Given the description of an element on the screen output the (x, y) to click on. 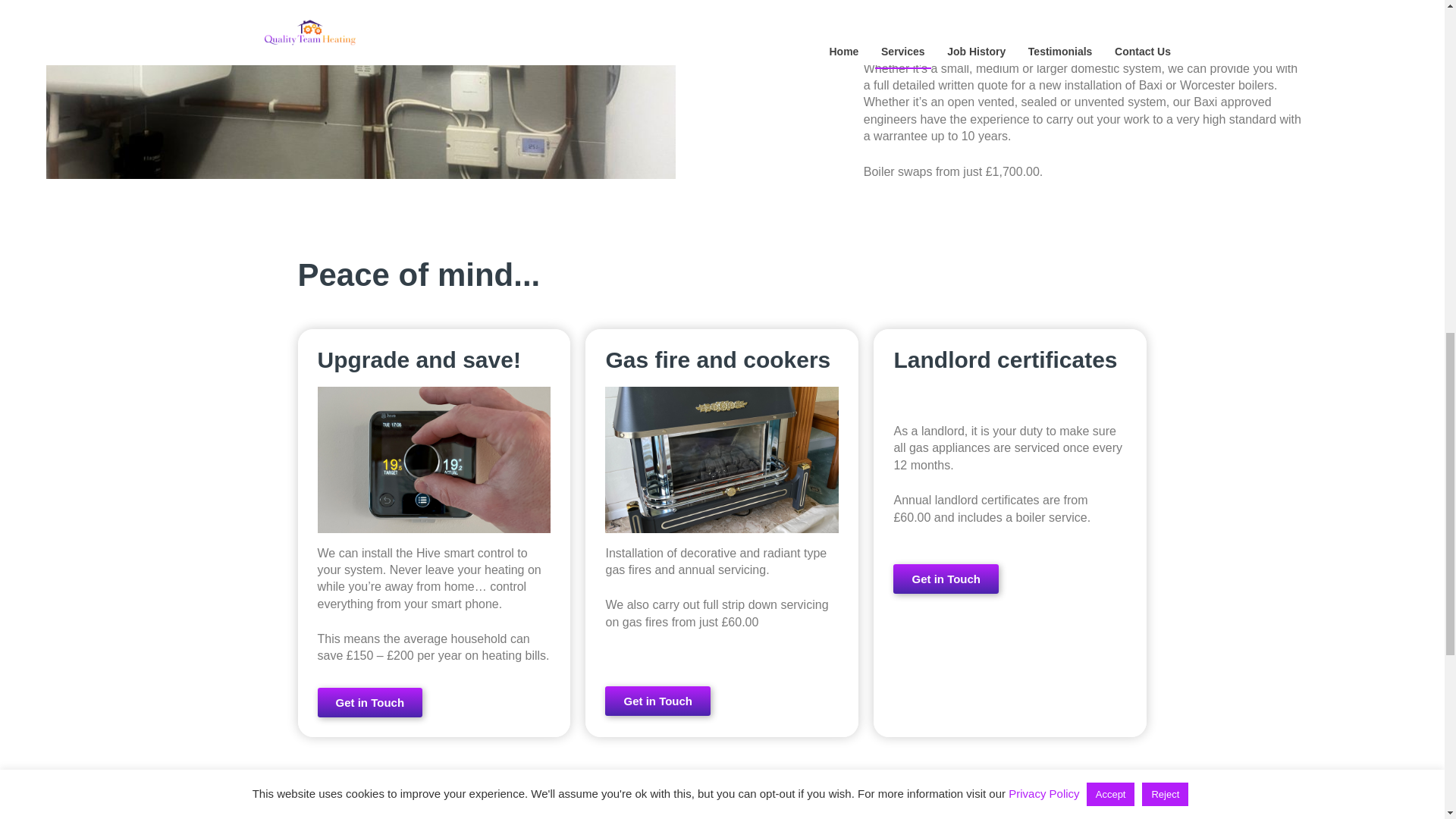
Back to top (1414, 15)
Get in Touch (945, 578)
Get in Touch (657, 700)
Get in Touch (369, 702)
